Given the description of an element on the screen output the (x, y) to click on. 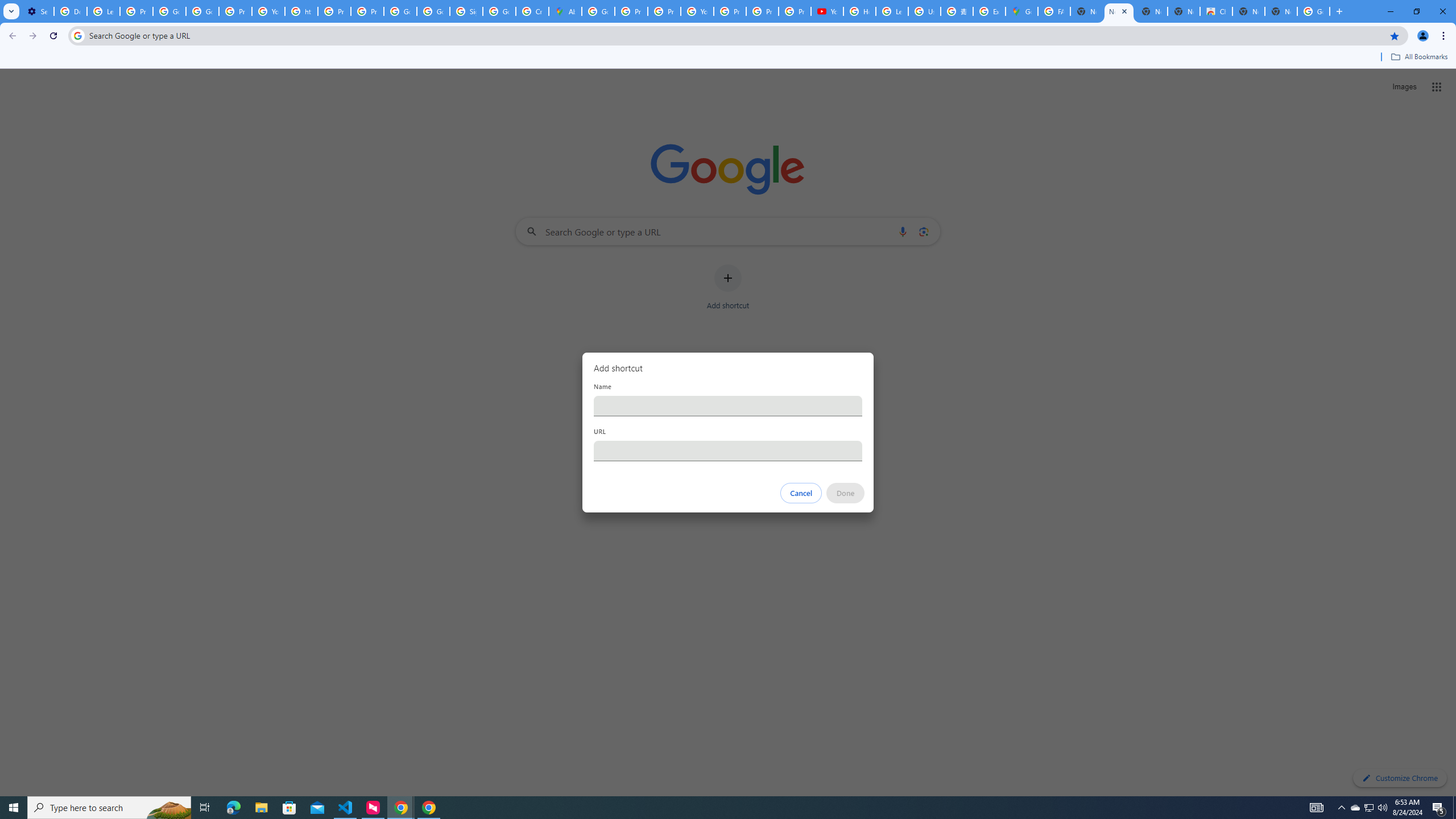
All Bookmarks (1418, 56)
Privacy Help Center - Policies Help (663, 11)
YouTube (268, 11)
YouTube (827, 11)
Bookmarks (728, 58)
Google Images (1313, 11)
Privacy Help Center - Policies Help (631, 11)
Explore new street-level details - Google Maps Help (989, 11)
